Given the description of an element on the screen output the (x, y) to click on. 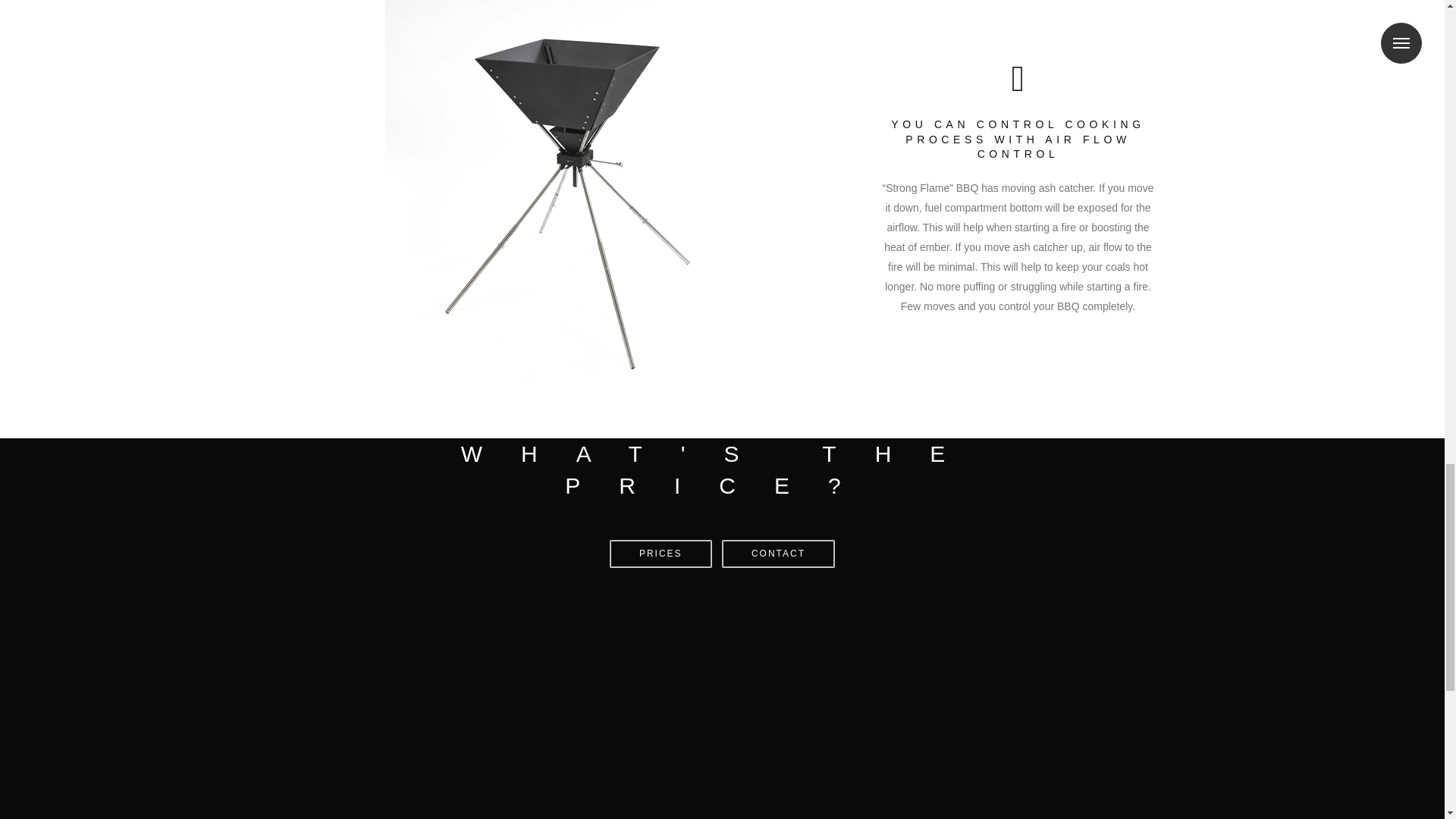
PRICES (660, 553)
PRICES   CONTACT (721, 553)
button (778, 553)
CONTACT (778, 553)
button (660, 553)
